Given the description of an element on the screen output the (x, y) to click on. 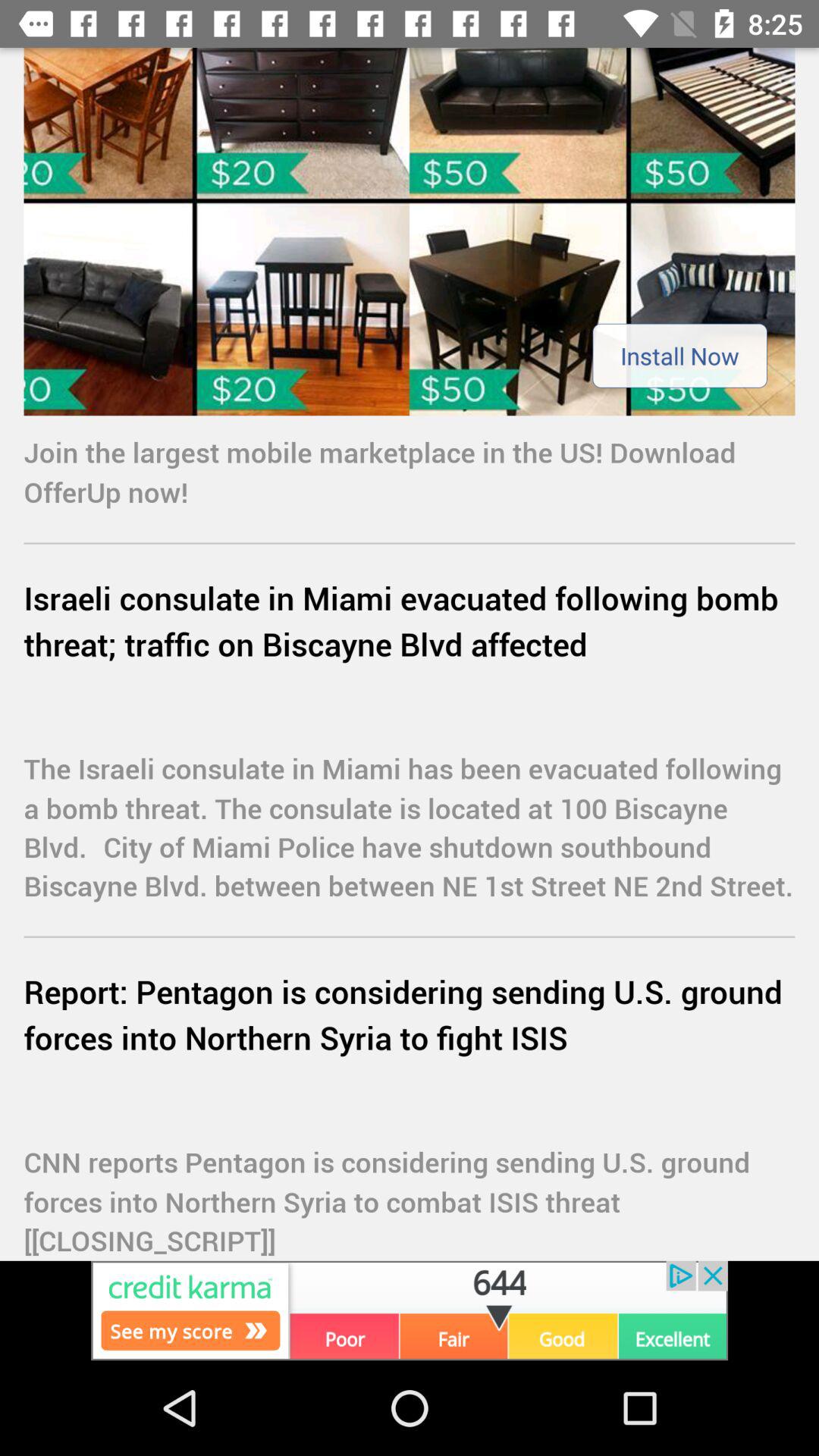
advertisement bar (409, 1310)
